Given the description of an element on the screen output the (x, y) to click on. 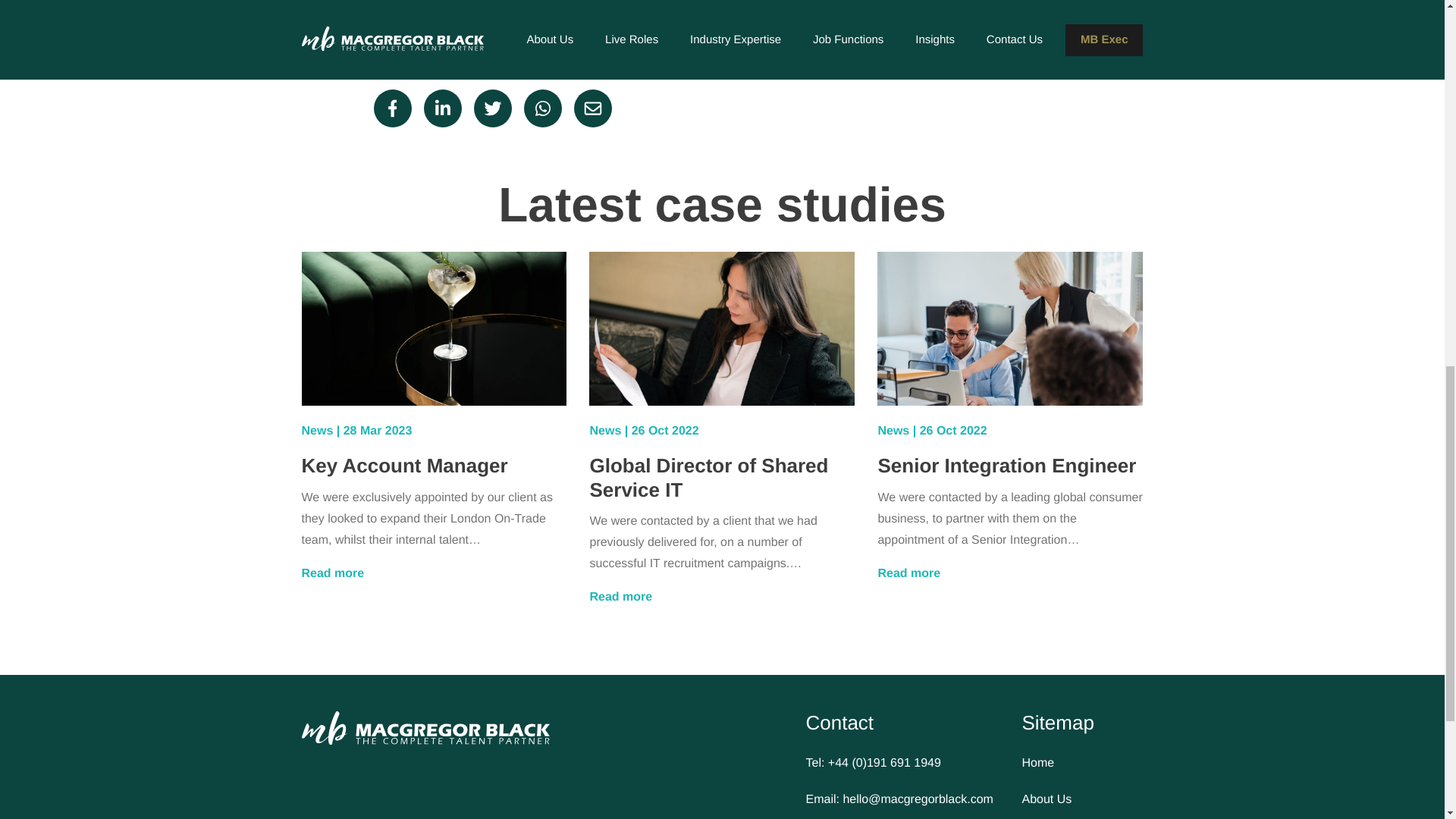
About Us (1082, 799)
Home (1082, 762)
Home (1082, 762)
About Us (1082, 799)
